Given the description of an element on the screen output the (x, y) to click on. 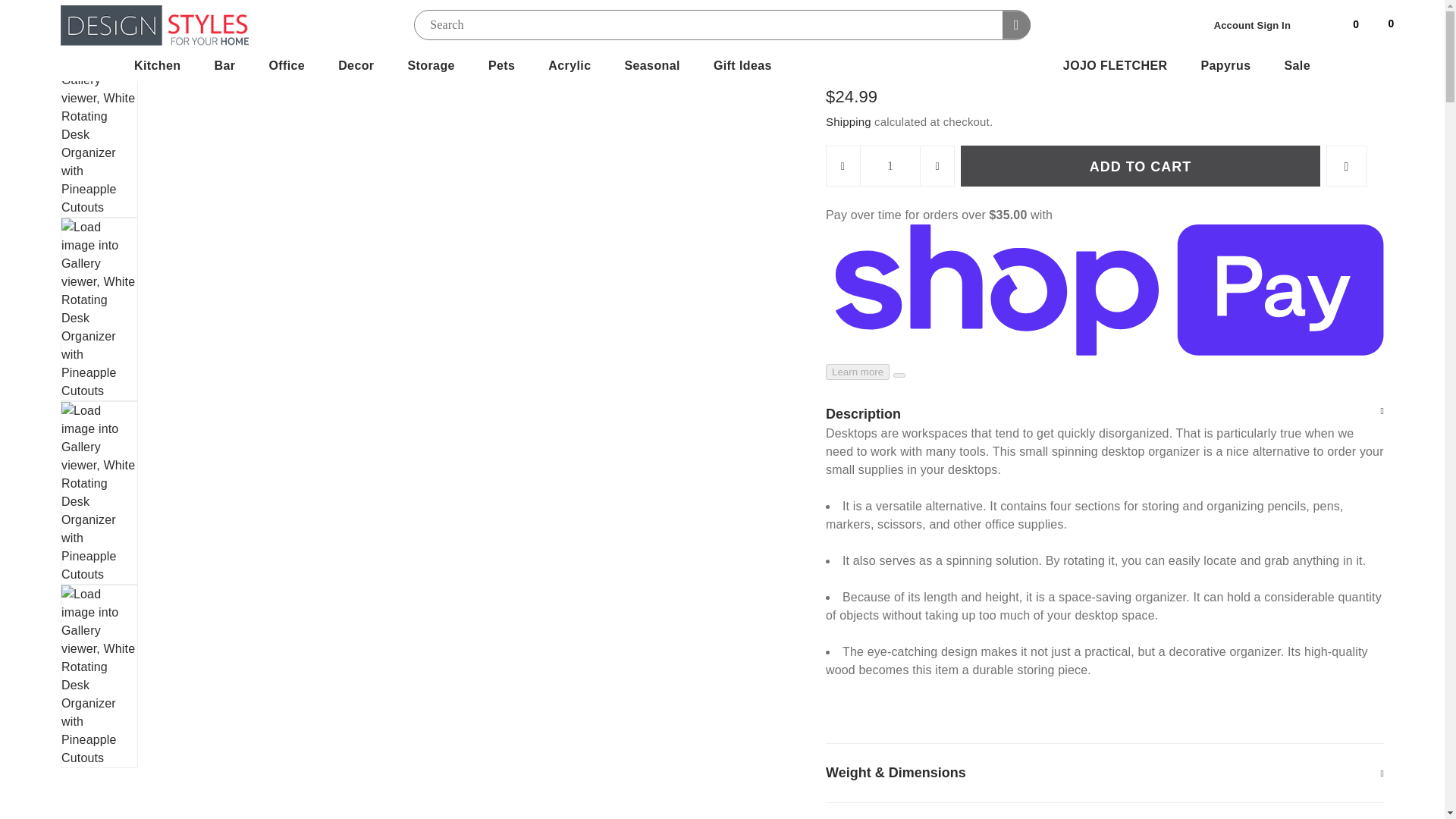
1 (890, 165)
Add to Wishlist (1346, 165)
